Given the description of an element on the screen output the (x, y) to click on. 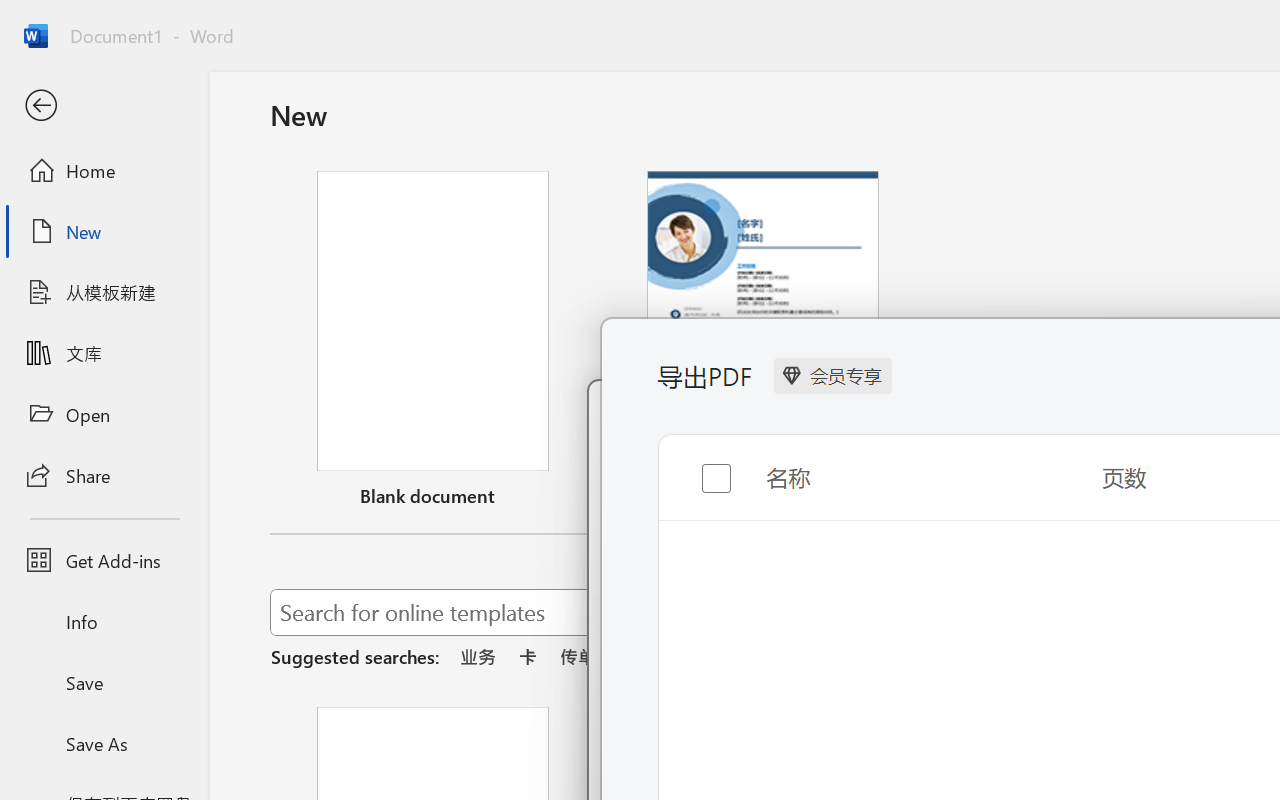
Toggle selection for all items (699, 462)
Blank document (433, 343)
Save As (104, 743)
New (104, 231)
Get Add-ins (104, 560)
Toggle selection for all items (699, 471)
